Given the description of an element on the screen output the (x, y) to click on. 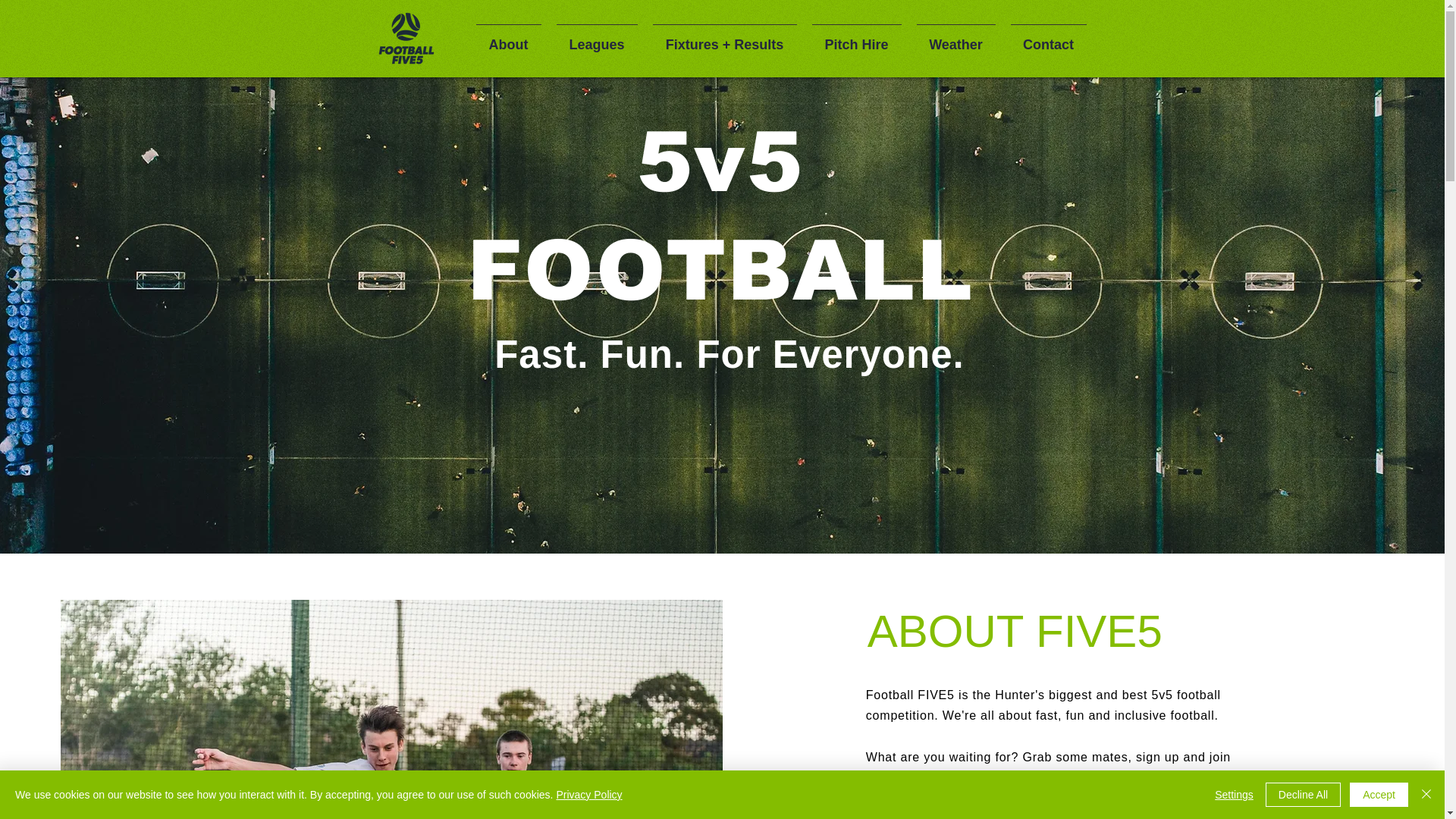
Privacy Policy Element type: text (588, 794)
Fixtures + Results Element type: text (723, 38)
Leagues Element type: text (597, 38)
About Element type: text (508, 38)
Weather Element type: text (955, 38)
Decline All Element type: text (1302, 794)
Pitch Hire Element type: text (855, 38)
Accept Element type: text (1378, 794)
Contact Element type: text (1047, 38)
